Given the description of an element on the screen output the (x, y) to click on. 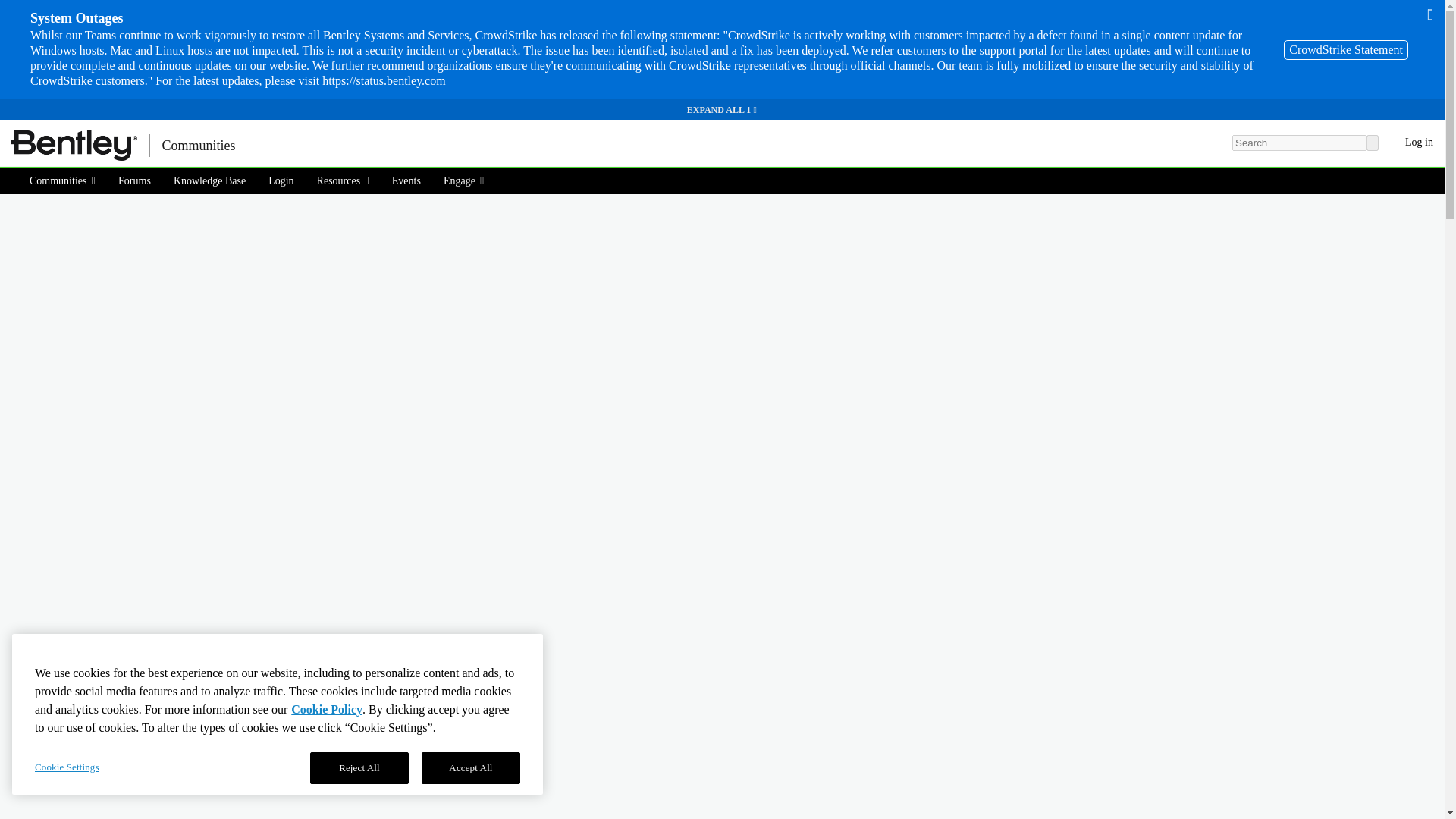
Skip to main content (8, 130)
CrowdStrike Statement (1345, 48)
CrowdStrike Statement (1345, 48)
Communities (67, 181)
Engage (464, 181)
Communities (197, 145)
Forums (133, 181)
Knowledge Base (209, 181)
Resources (342, 181)
Dismiss announcement System Outages  (1430, 14)
Toggle navigation (273, 145)
Events (406, 181)
Login (280, 181)
